Given the description of an element on the screen output the (x, y) to click on. 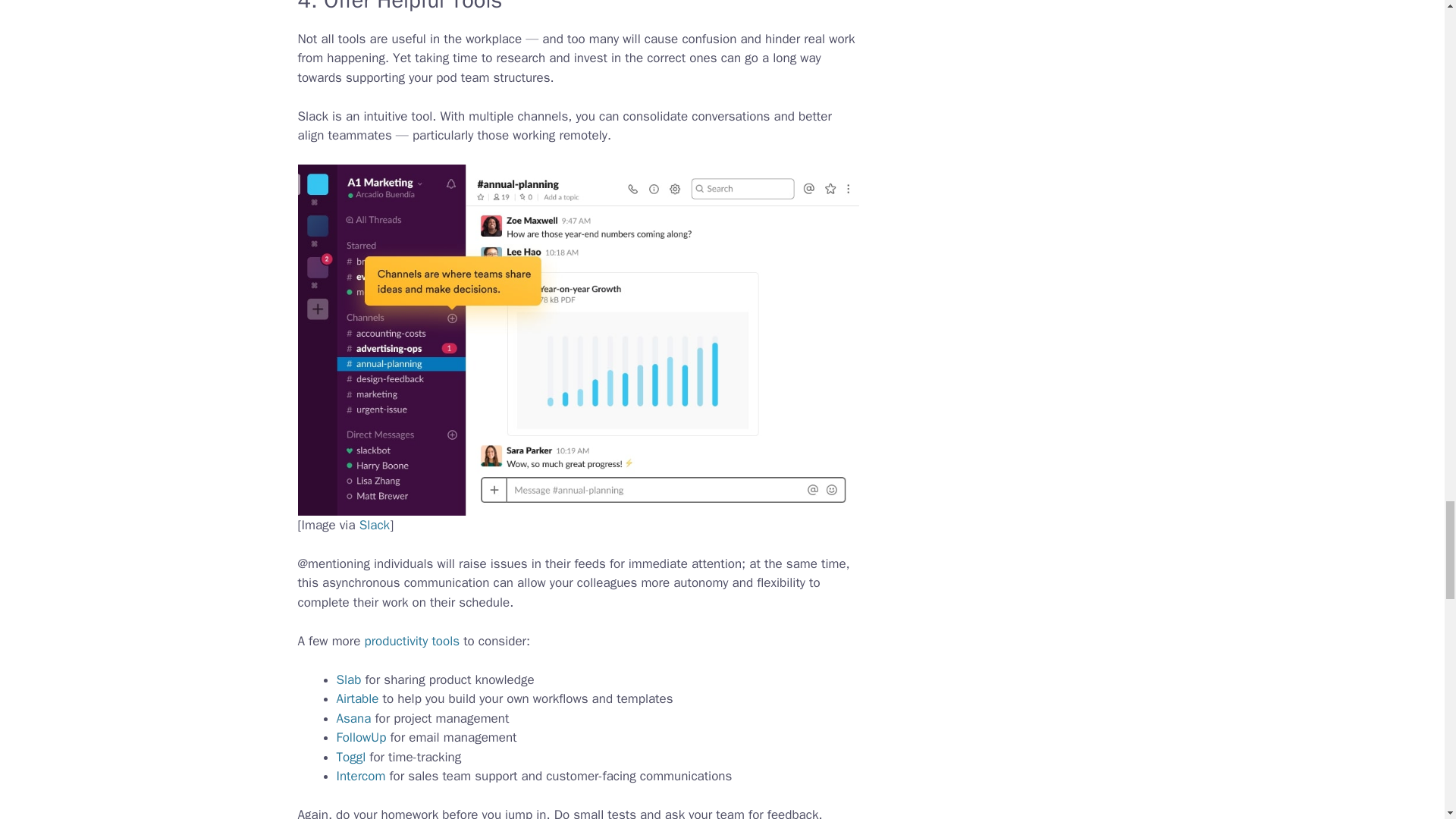
Airtable (357, 698)
Slack (374, 524)
Slab (348, 679)
productivity tools (412, 641)
